Given the description of an element on the screen output the (x, y) to click on. 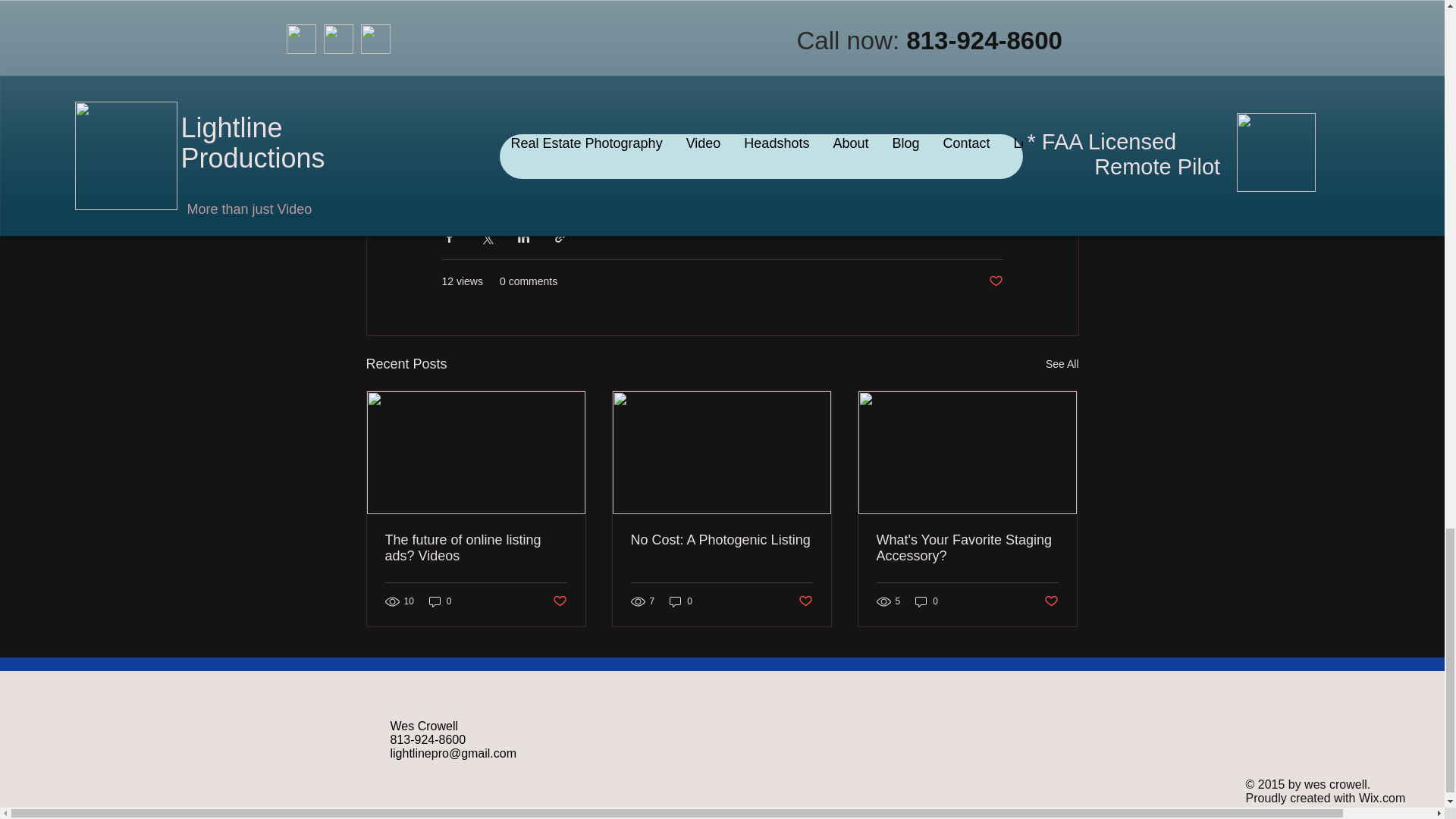
The future of online listing ads? Videos (476, 548)
Post not marked as liked (558, 601)
0 (440, 601)
Post not marked as liked (804, 601)
See All (1061, 363)
0 (681, 601)
Post not marked as liked (995, 281)
No Cost: A Photogenic Listing (721, 539)
